Given the description of an element on the screen output the (x, y) to click on. 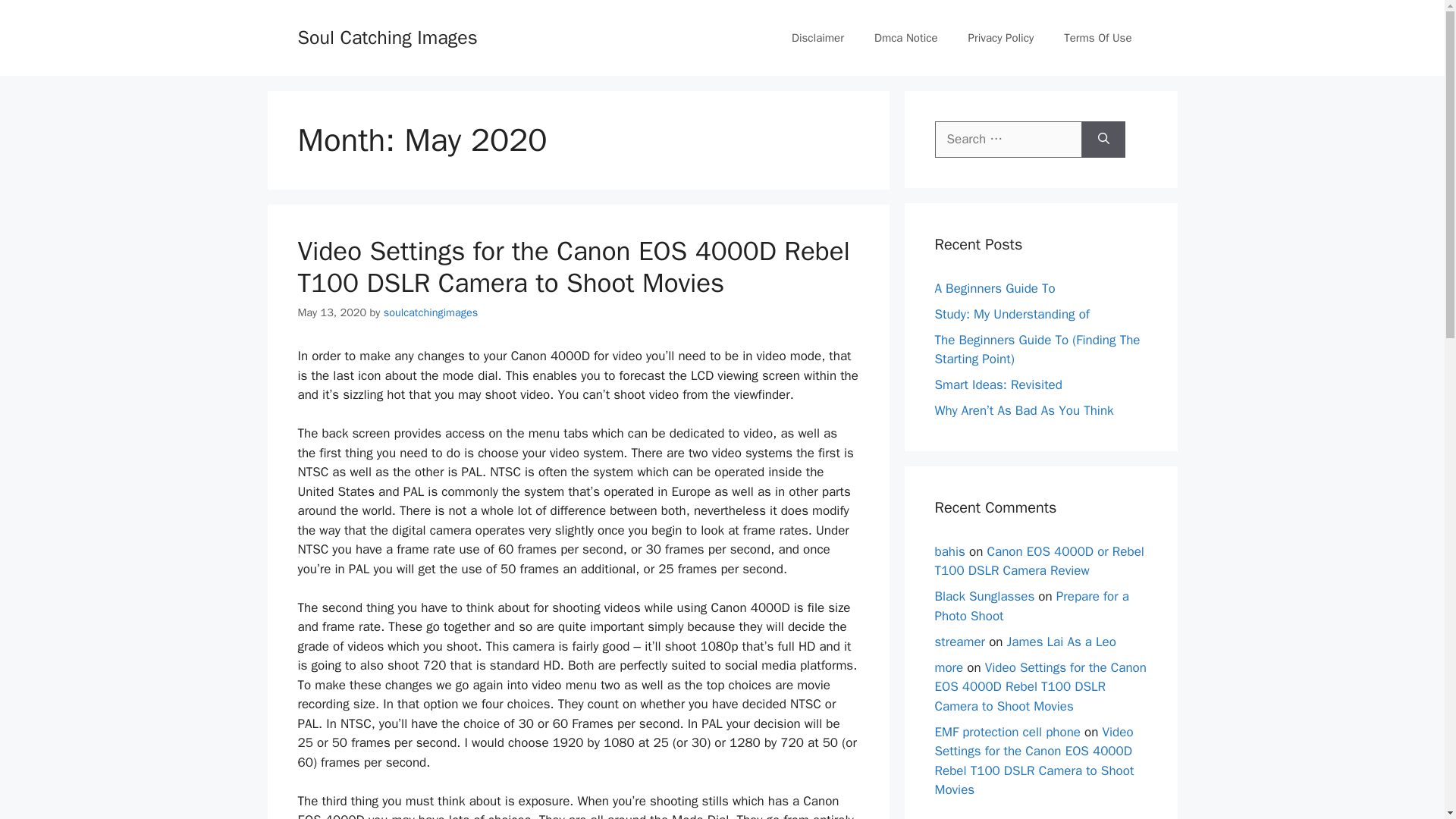
Disclaimer (817, 37)
Study: My Understanding of (1011, 314)
A Beginners Guide To (994, 288)
more (948, 667)
Soul Catching Images (387, 37)
bahis (948, 550)
Privacy Policy (1001, 37)
streamer (959, 641)
